Given the description of an element on the screen output the (x, y) to click on. 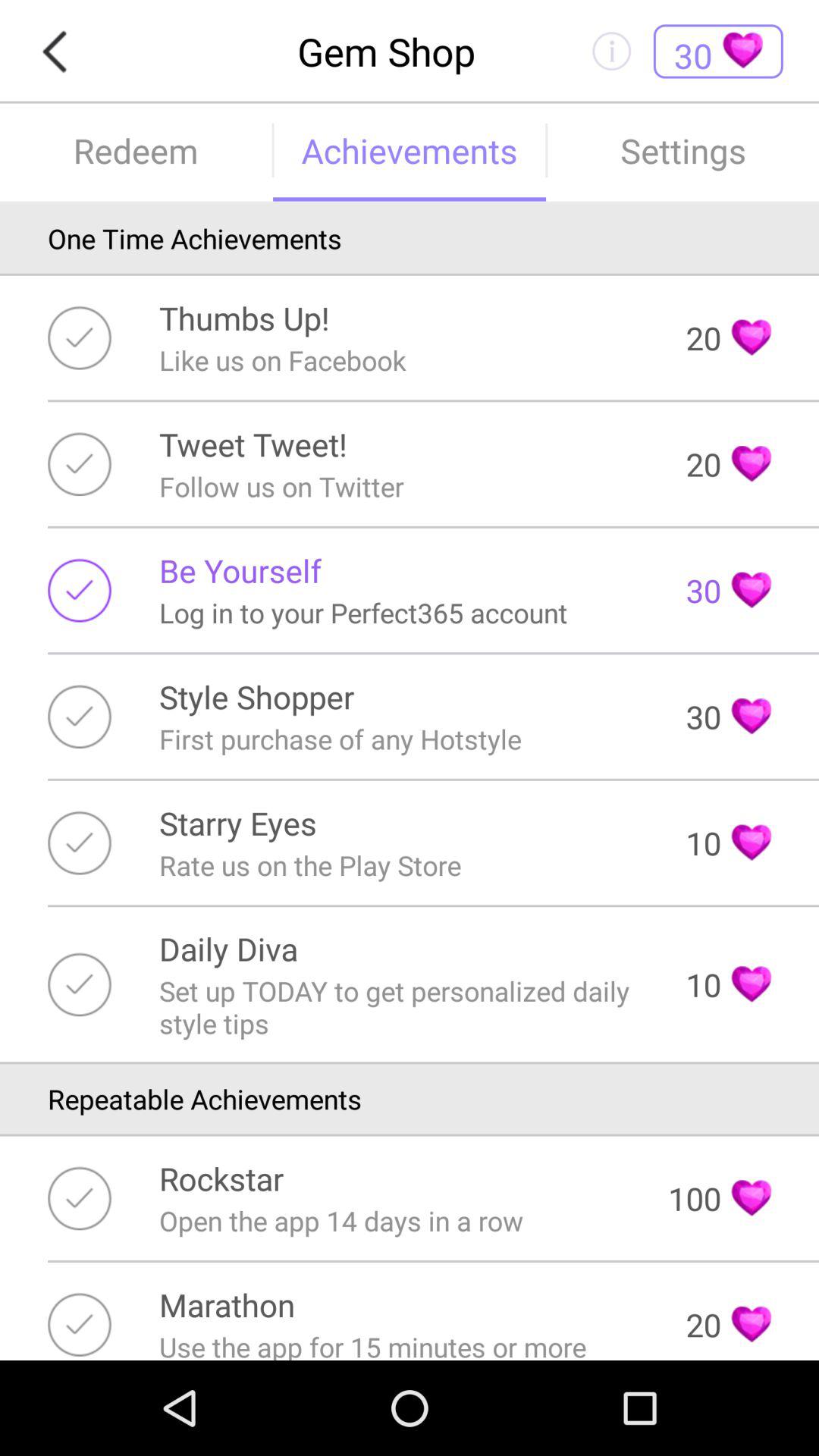
open the item next to the 10 item (402, 1006)
